Given the description of an element on the screen output the (x, y) to click on. 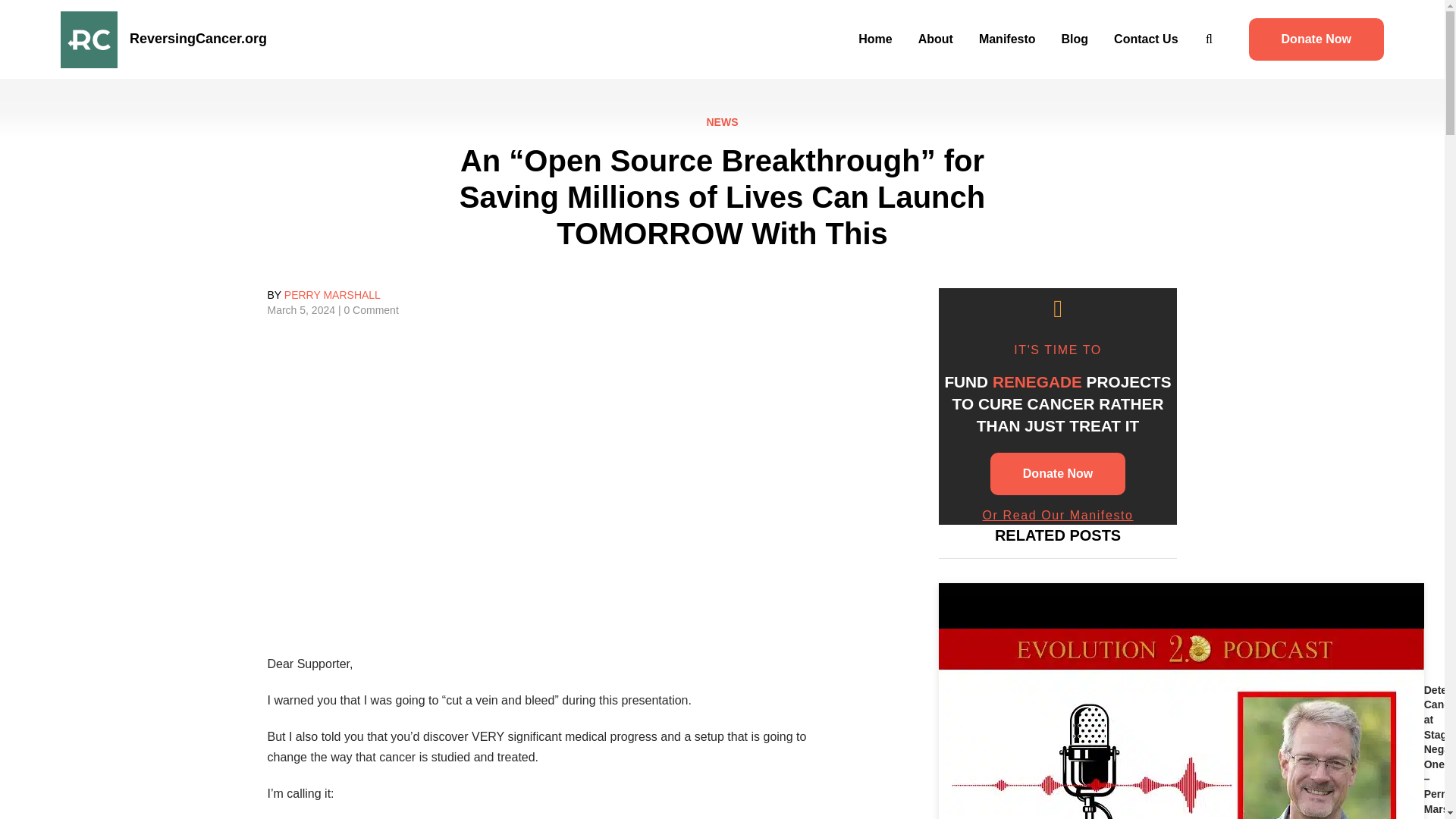
NEWS (722, 122)
Donate Now (1316, 39)
Contact Us (1145, 39)
Blog (1075, 39)
Home (874, 39)
Or Read Our Manifesto (1058, 514)
Manifesto (1007, 39)
Donate Now (1057, 473)
About (935, 39)
